Given the description of an element on the screen output the (x, y) to click on. 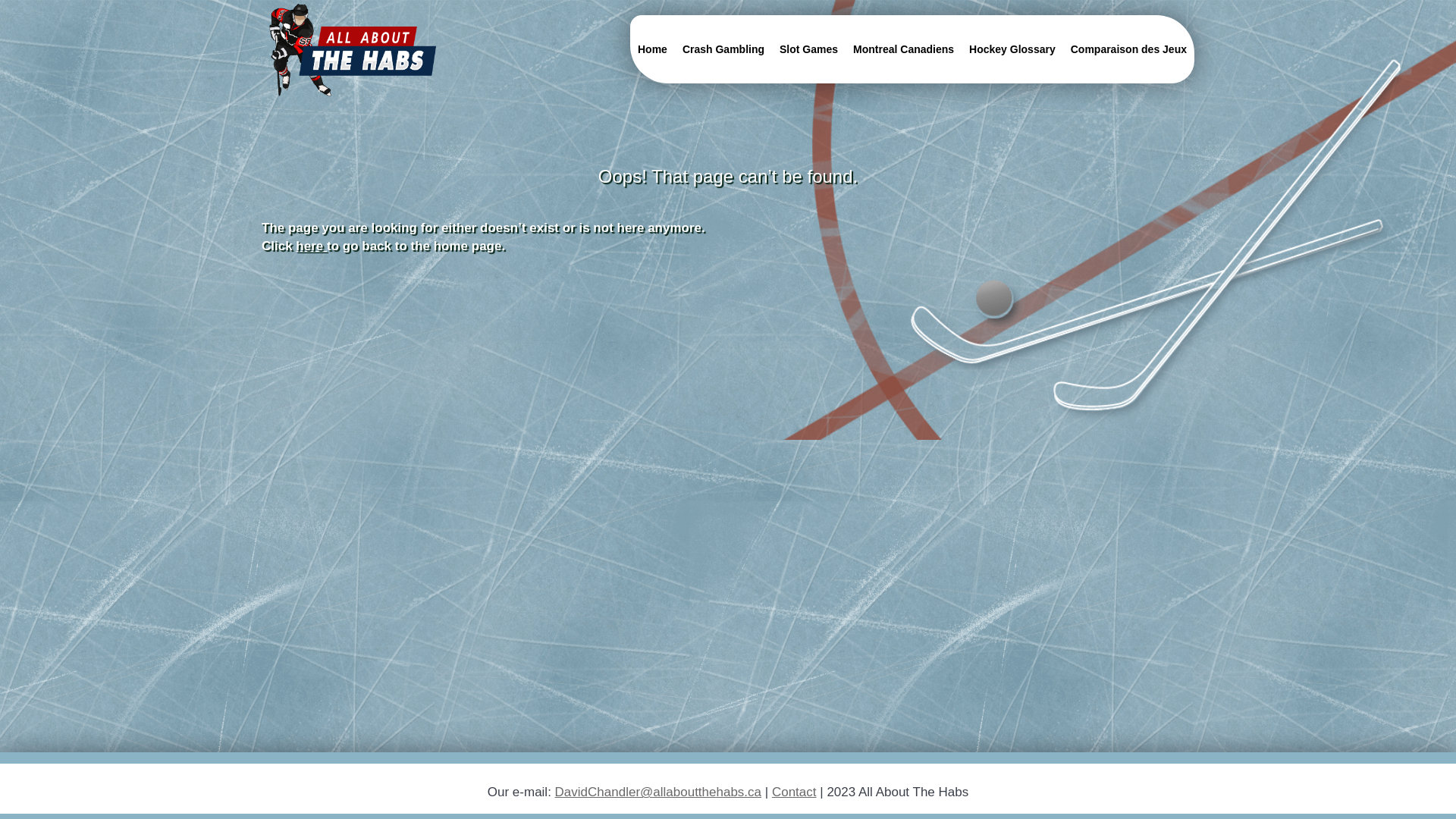
DavidChandler@allaboutthehabs.ca Element type: text (658, 791)
here Element type: text (310, 245)
Crash Gambling Element type: text (722, 49)
Home Element type: text (652, 49)
Hockey Glossary Element type: text (1012, 49)
Montreal Canadiens Element type: text (903, 49)
Slot Games Element type: text (808, 49)
Comparaison des Jeux Element type: text (1128, 49)
Contact Element type: text (793, 791)
